Given the description of an element on the screen output the (x, y) to click on. 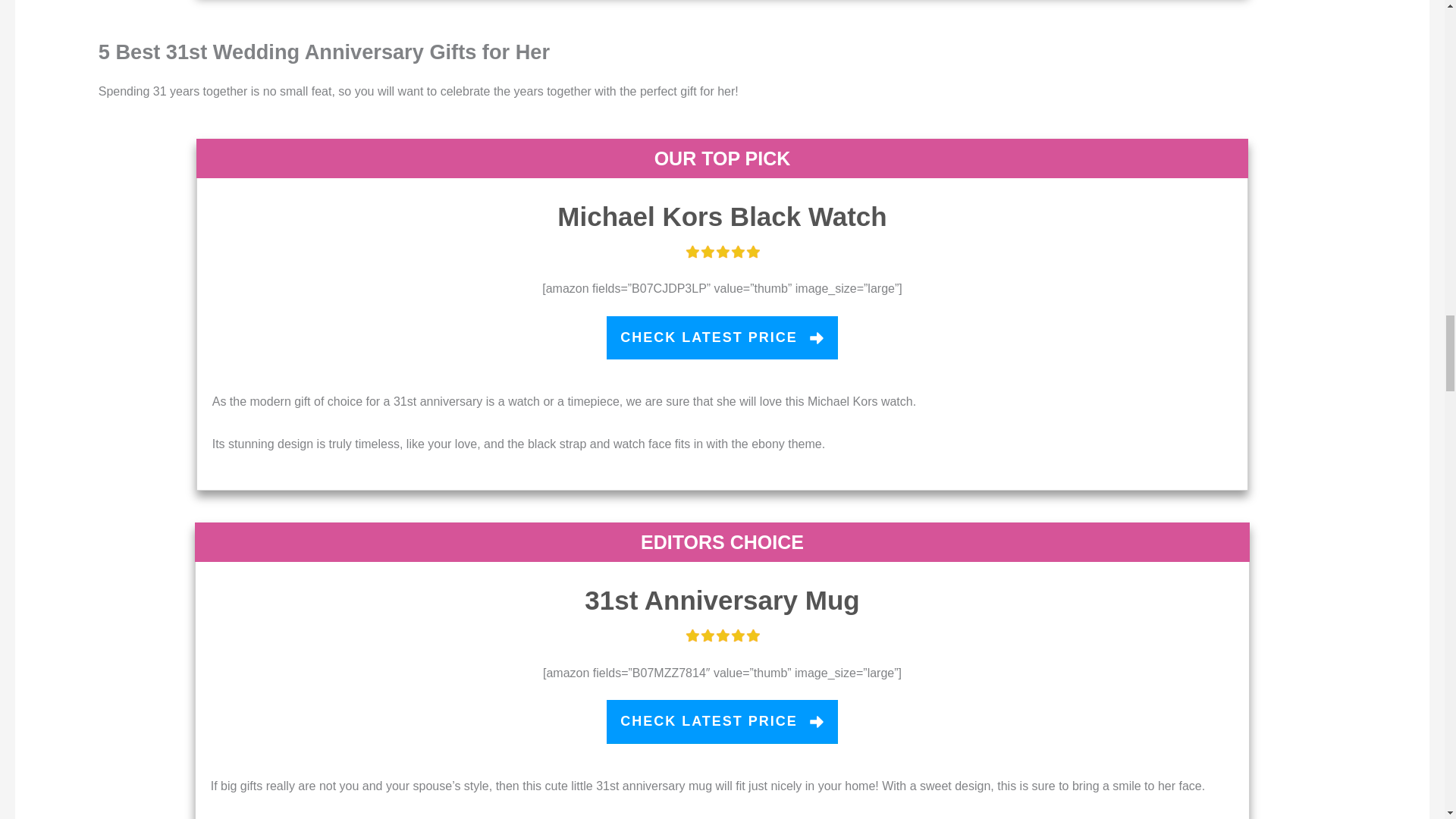
CHECK LATEST PRICE (722, 338)
Michael Kors Black Watch (721, 215)
CHECK LATEST PRICE (722, 721)
31st Anniversary Mug (722, 600)
